Given the description of an element on the screen output the (x, y) to click on. 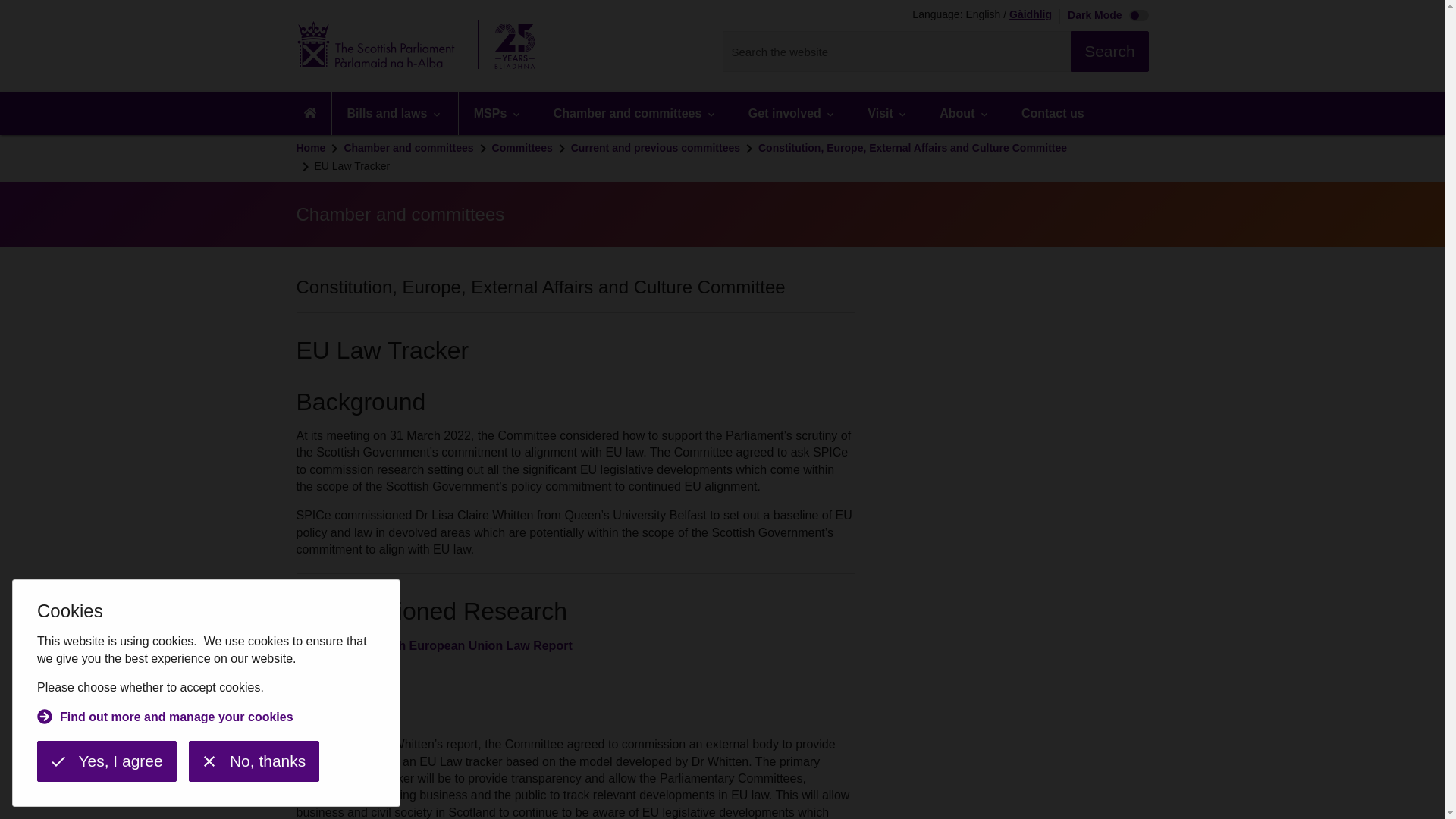
Dark Mode (1103, 16)
Search (1109, 51)
Scottish Parliament Website home (419, 45)
No, thanks (252, 761)
Bills and laws (394, 113)
Chamber and committees (635, 113)
Yes, I agree (106, 761)
MSPs (497, 113)
Find out more and manage your cookies (165, 718)
